Given the description of an element on the screen output the (x, y) to click on. 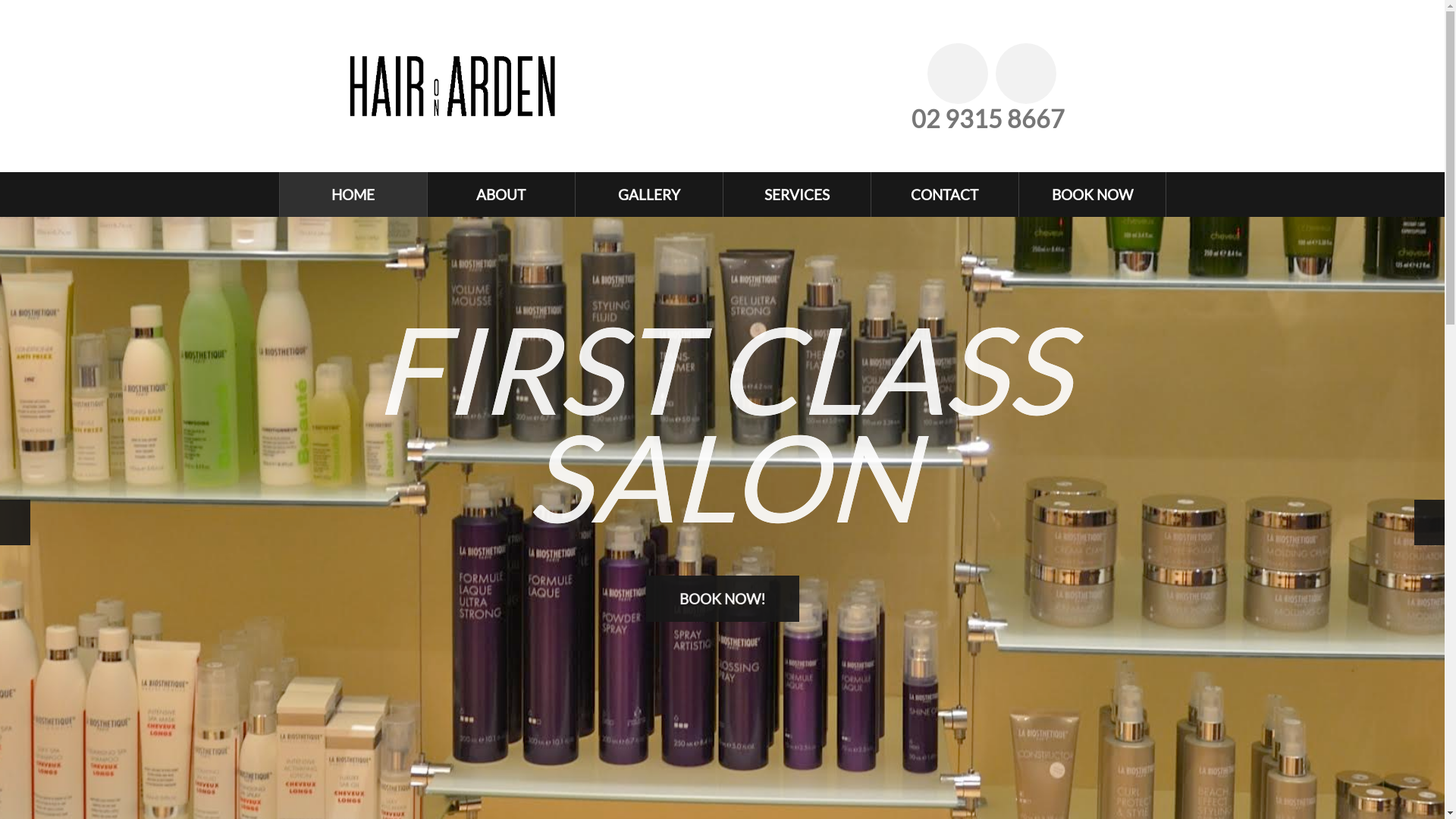
instagram Element type: hover (1024, 73)
02 9315 8667 Element type: text (987, 118)
BOOK NOW Element type: text (1092, 194)
GALLERY Element type: text (647, 194)
ABOUT Element type: text (500, 194)
HOME Element type: text (352, 194)
facebook Element type: hover (956, 73)
BOOK IN TODAY Element type: text (721, 534)
CONTACT Element type: text (943, 194)
SERVICES Element type: text (796, 194)
BOOK NOW! Element type: text (722, 598)
